Given the description of an element on the screen output the (x, y) to click on. 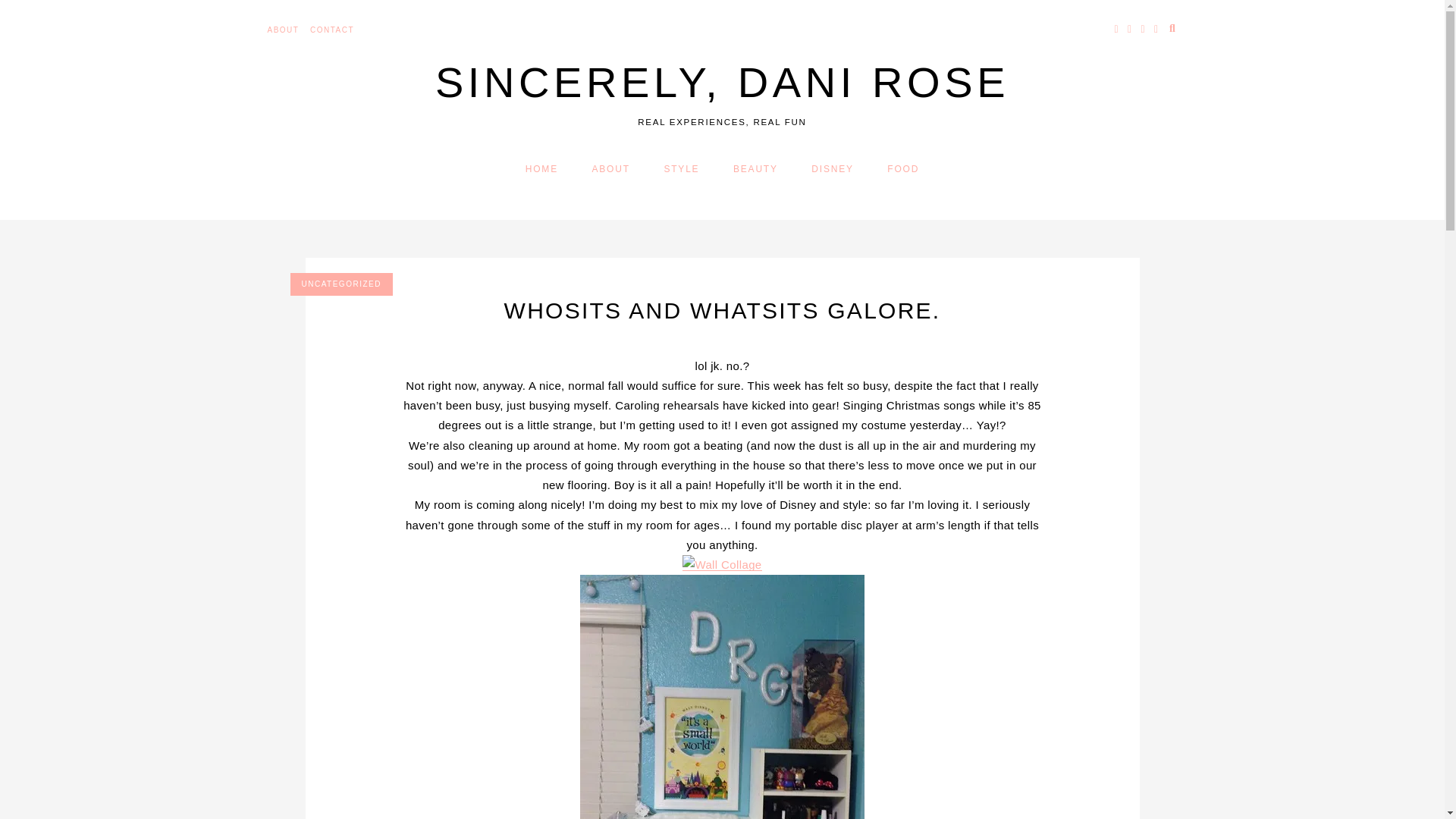
ABOUT (611, 168)
SINCERELY, DANI ROSE (722, 82)
FOOD (902, 168)
BEAUTY (755, 168)
STYLE (680, 168)
DISNEY (831, 168)
ABOUT (282, 29)
Wall Collage by sincerelydanirose, on Flickr (721, 563)
UNCATEGORIZED (340, 283)
CONTACT (331, 29)
